Given the description of an element on the screen output the (x, y) to click on. 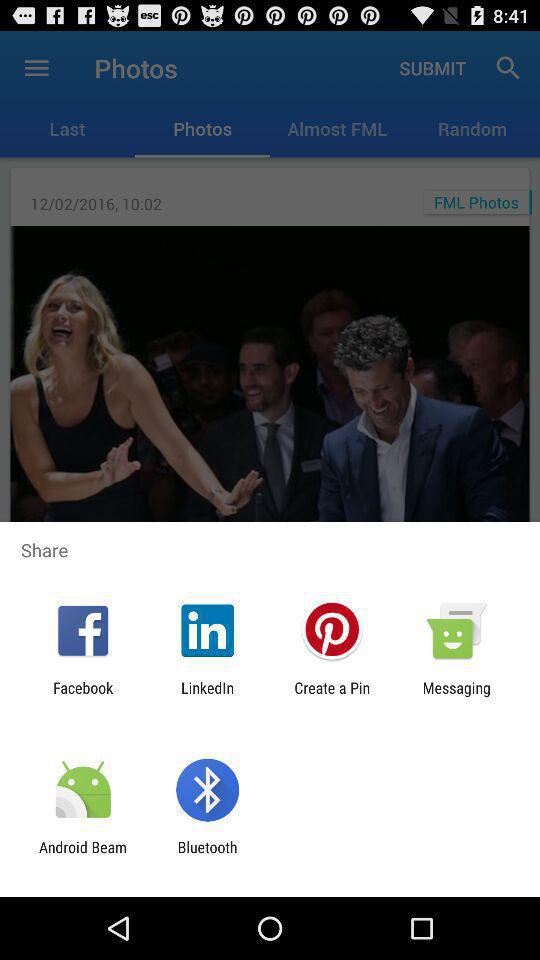
select facebook icon (83, 696)
